Given the description of an element on the screen output the (x, y) to click on. 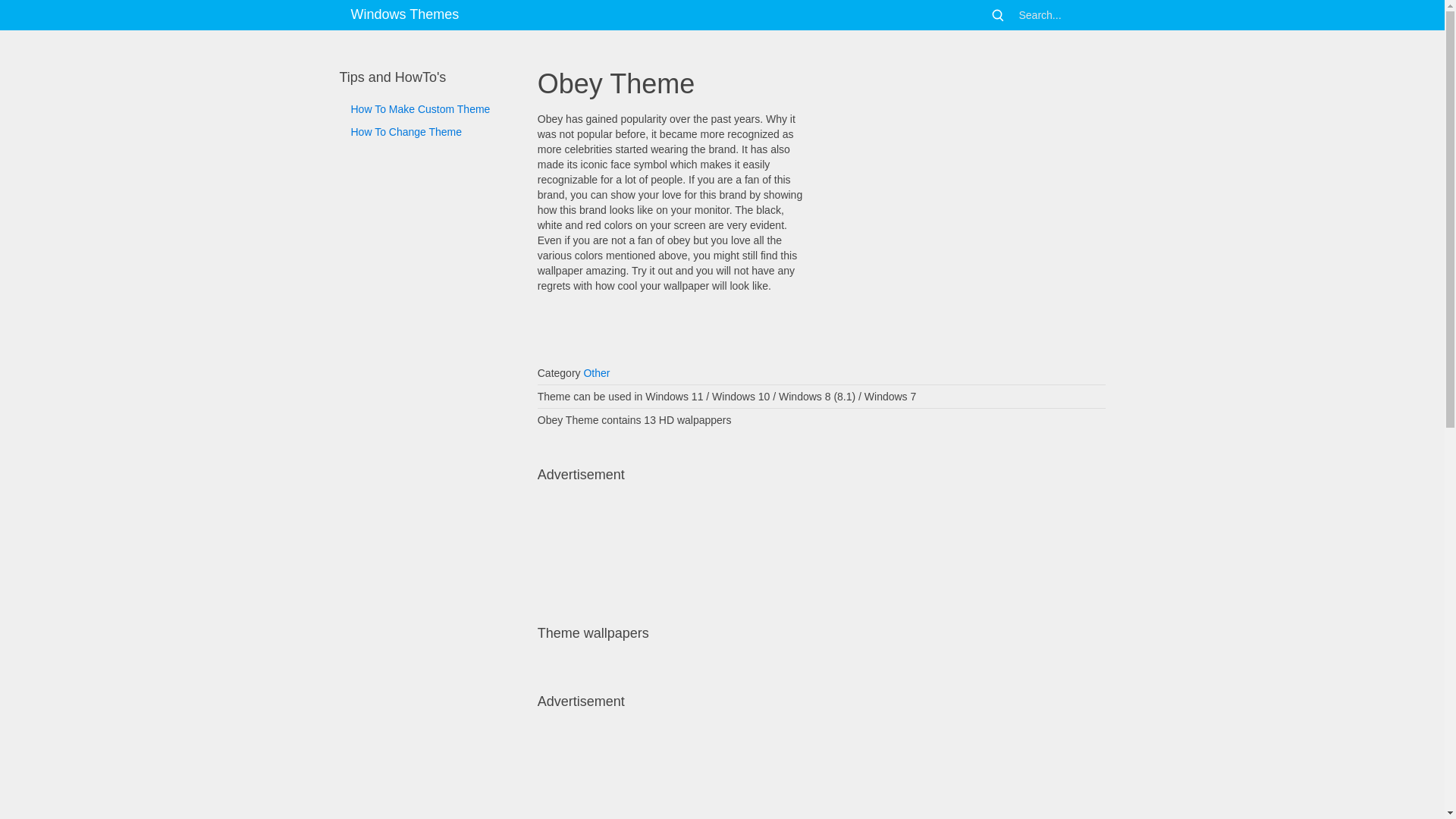
Advertisement (813, 755)
Advertisement (813, 529)
Windows Themes (404, 15)
How To Change Theme (425, 131)
Other (596, 372)
Advertisement (971, 225)
How To Make Custom Theme (425, 108)
